Given the description of an element on the screen output the (x, y) to click on. 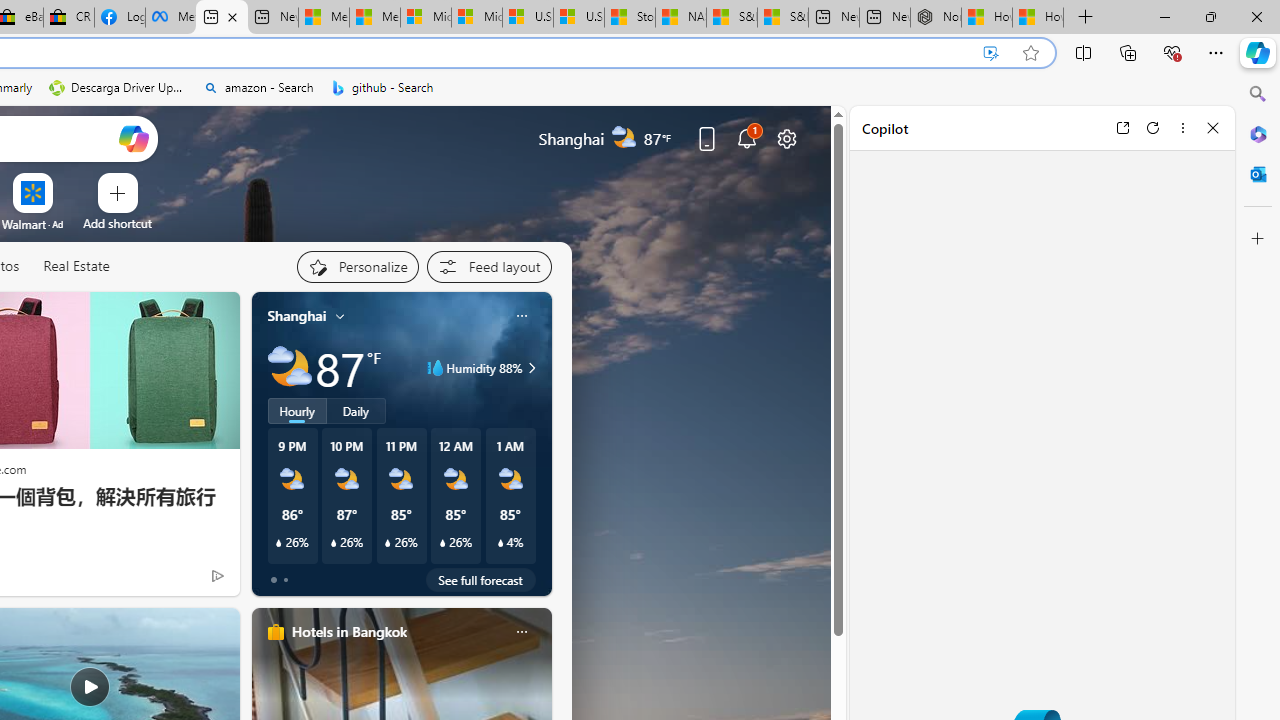
Hourly (296, 411)
Page settings (786, 138)
My location (340, 315)
Enhance video (991, 53)
Log into Facebook (119, 17)
